Given the description of an element on the screen output the (x, y) to click on. 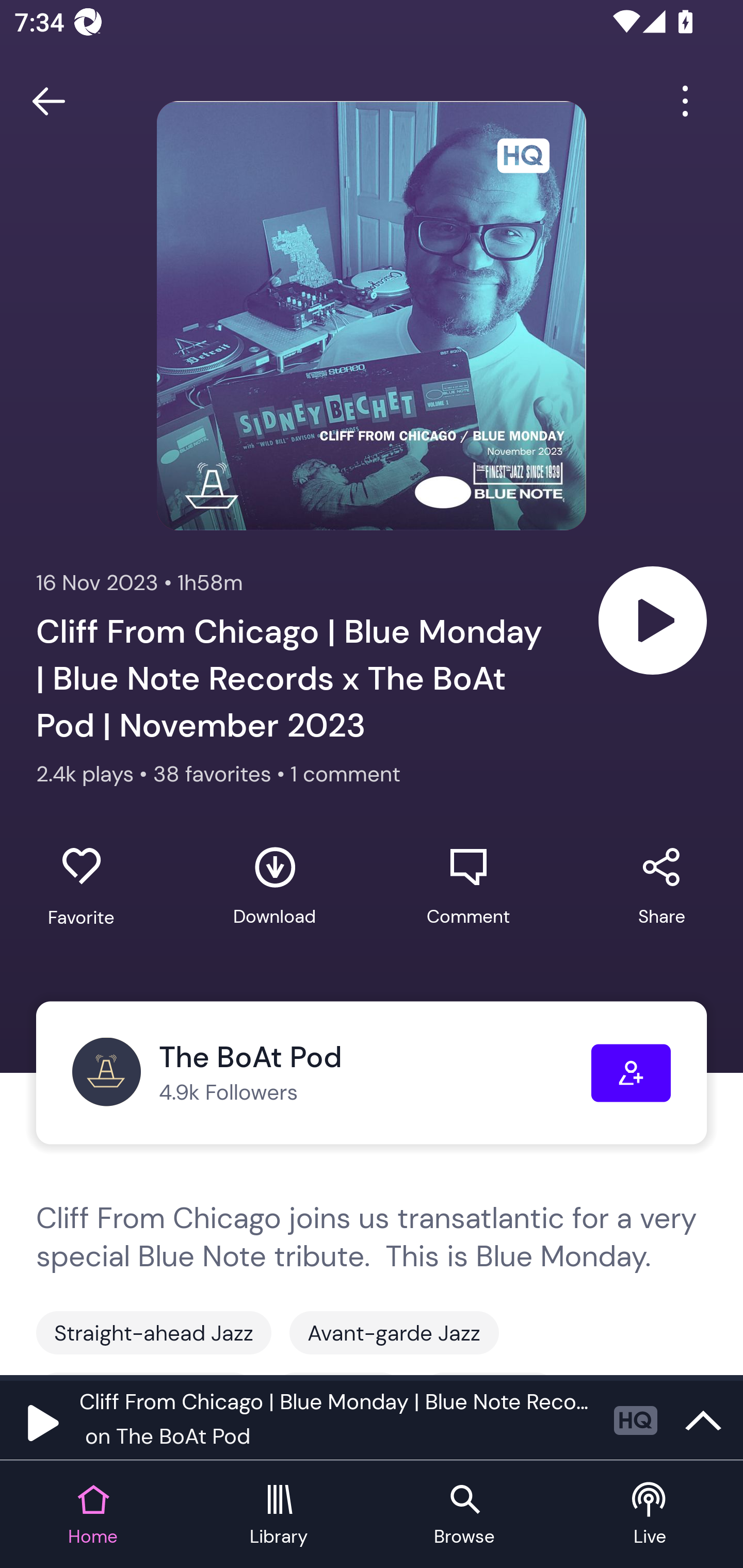
38 favorites •  (221, 773)
1 comment (345, 773)
Favorite (81, 886)
Download (274, 886)
Comment (467, 886)
Share (661, 886)
Follow (630, 1073)
Straight-ahead Jazz (153, 1332)
Avant-garde Jazz (394, 1332)
Home tab Home (92, 1515)
Library tab Library (278, 1515)
Browse tab Browse (464, 1515)
Live tab Live (650, 1515)
